Given the description of an element on the screen output the (x, y) to click on. 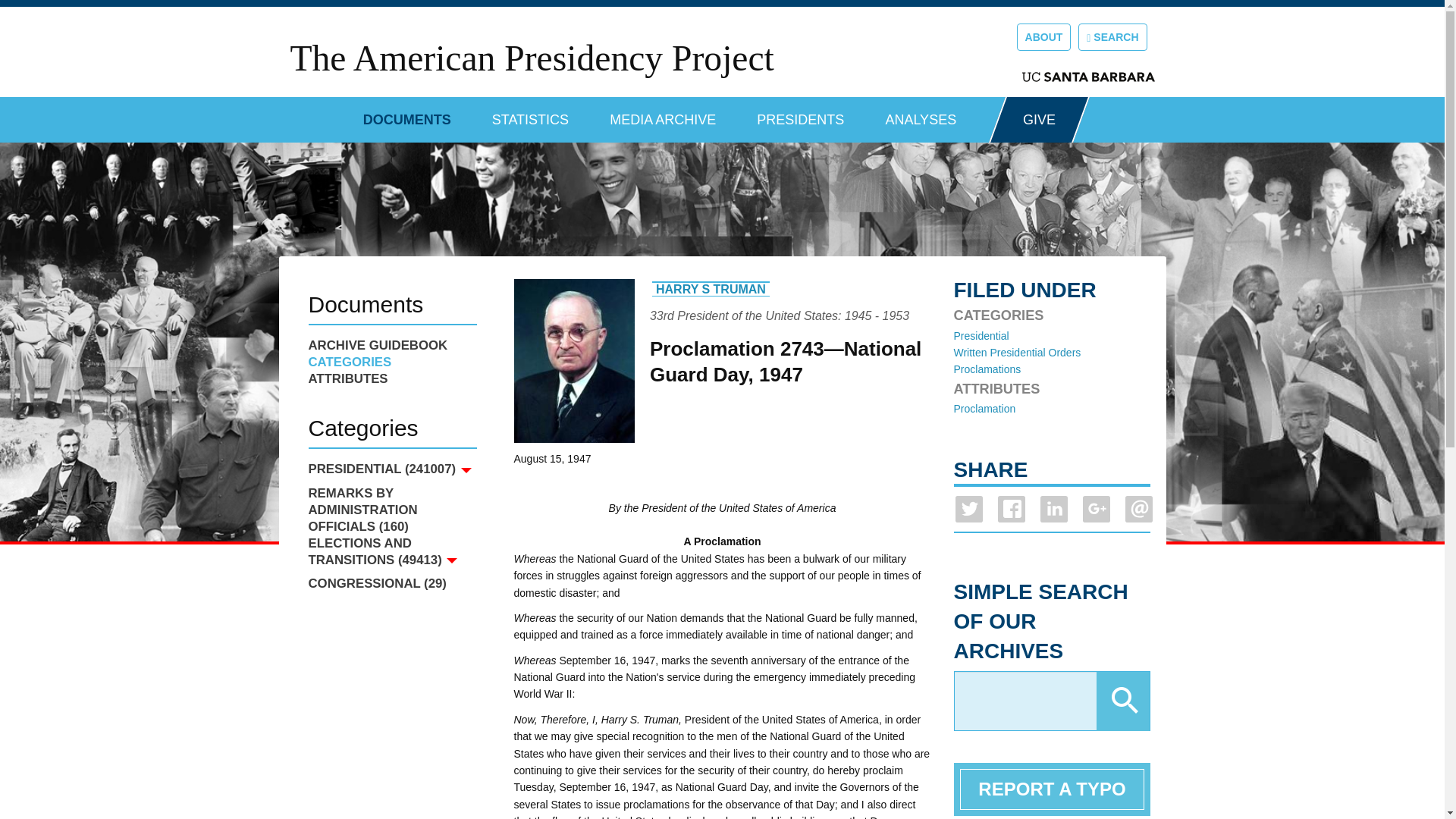
 SEARCH (1112, 36)
ANALYSES (920, 113)
ARCHIVE GUIDEBOOK (391, 345)
MEDIA ARCHIVE (663, 113)
ATTRIBUTES (391, 379)
GIVE (1038, 119)
STATISTICS (530, 113)
CATEGORIES (391, 362)
PRESIDENTS (800, 113)
DOCUMENTS (406, 113)
The American Presidency Project (531, 57)
ABOUT (1043, 36)
